Given the description of an element on the screen output the (x, y) to click on. 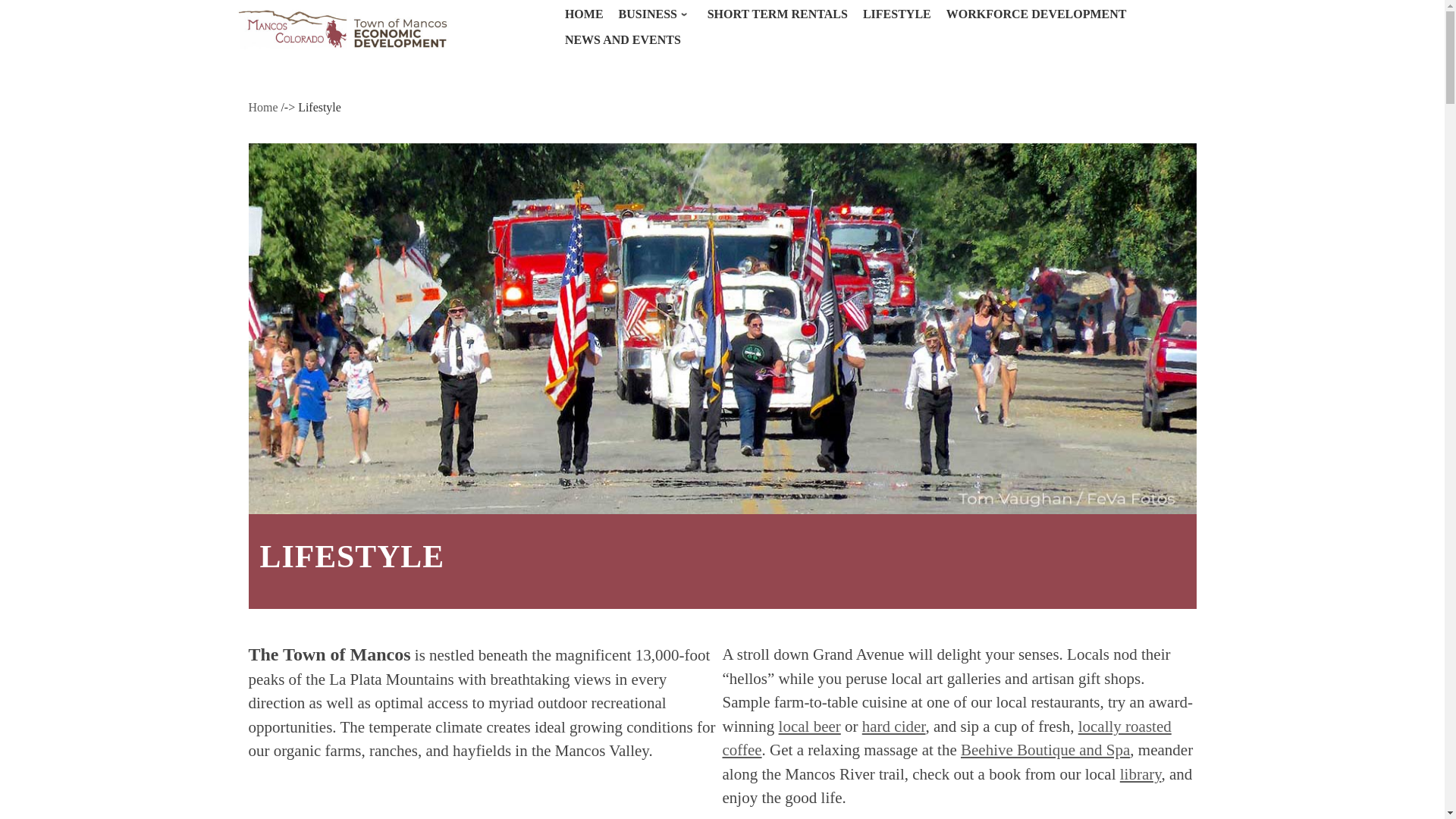
SHORT TERM RENTALS (777, 14)
HOME (583, 14)
TOWN OF MANCOS ECONOMIC DEVELOPMENT (395, 27)
library (1140, 773)
hard cider (893, 726)
Home (263, 106)
locally roasted coffee (946, 738)
LIFESTYLE (896, 14)
local beer (809, 726)
NEWS AND EVENTS (622, 40)
WORKFORCE DEVELOPMENT (1036, 14)
BUSINESS (654, 14)
Beehive Boutique and Spa (1044, 750)
